Given the description of an element on the screen output the (x, y) to click on. 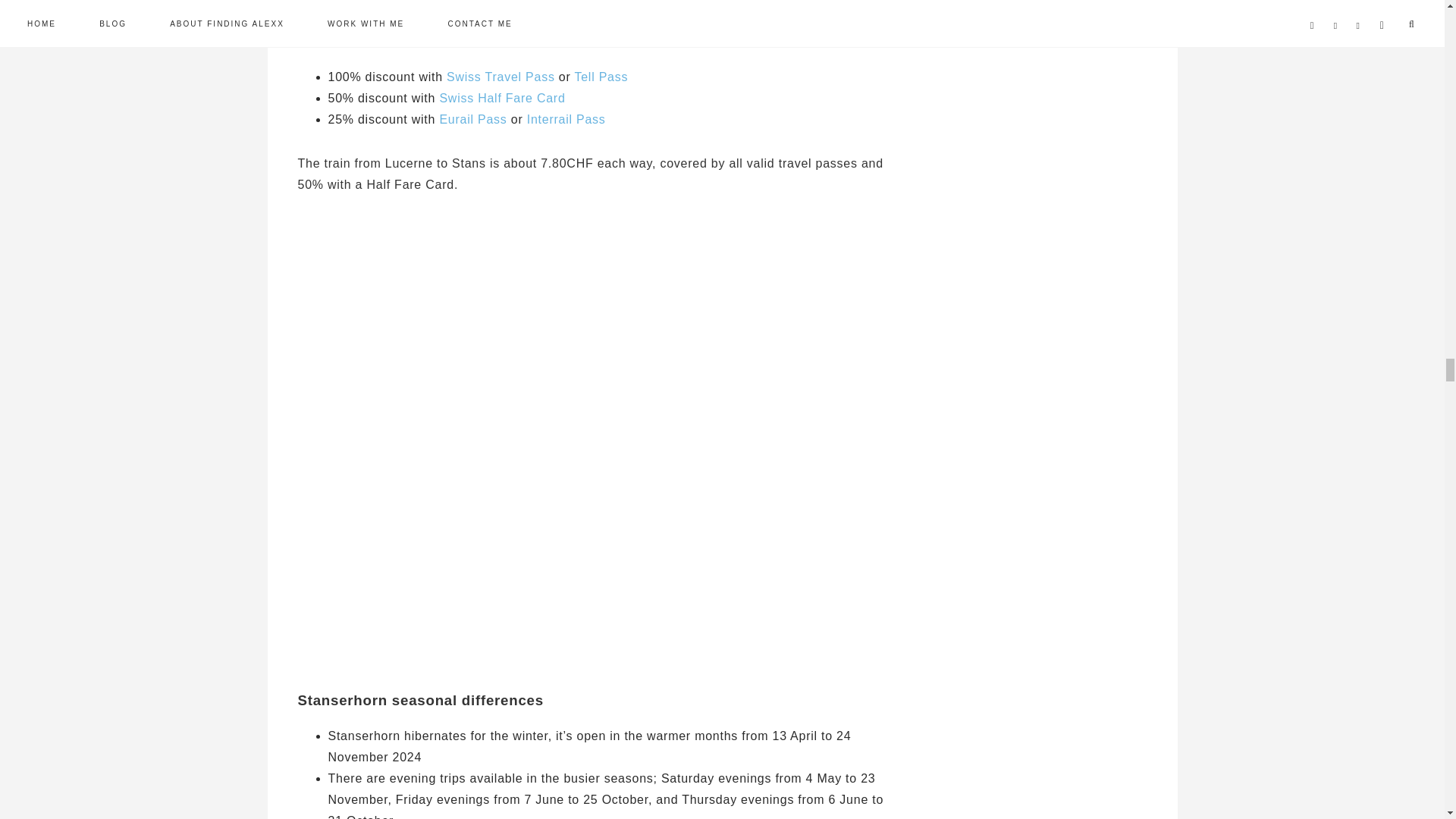
Swiss half fare card klook (501, 97)
swiss travel pass klook3 (500, 76)
tell pass klook (600, 76)
